Given the description of an element on the screen output the (x, y) to click on. 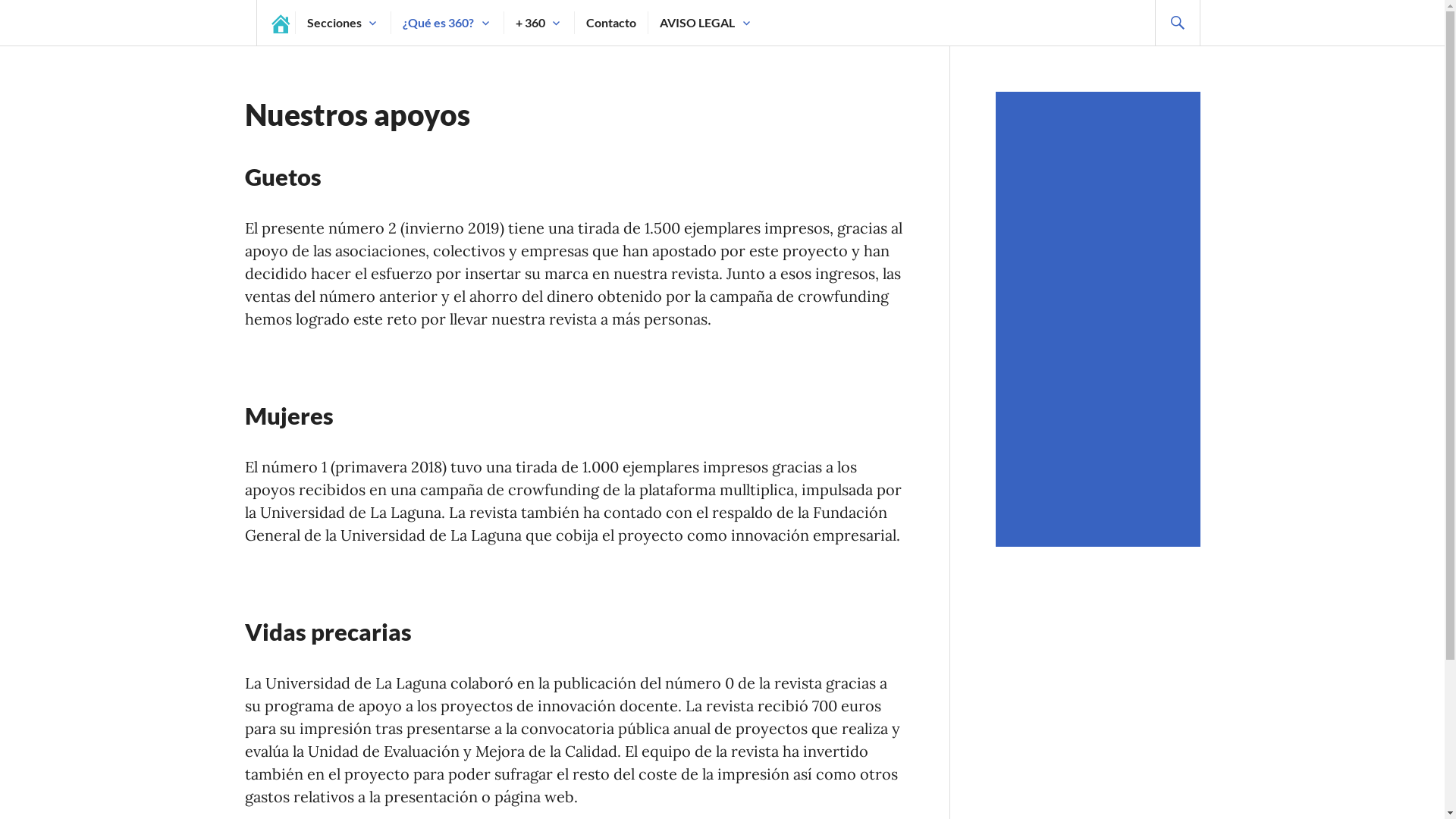
Contacto Element type: text (611, 22)
+ 360 Element type: text (530, 22)
Advertisement Element type: hover (1099, 318)
REVISTA 360 Element type: text (249, 147)
AVISO LEGAL Element type: text (696, 22)
Secciones Element type: text (333, 22)
